Given the description of an element on the screen output the (x, y) to click on. 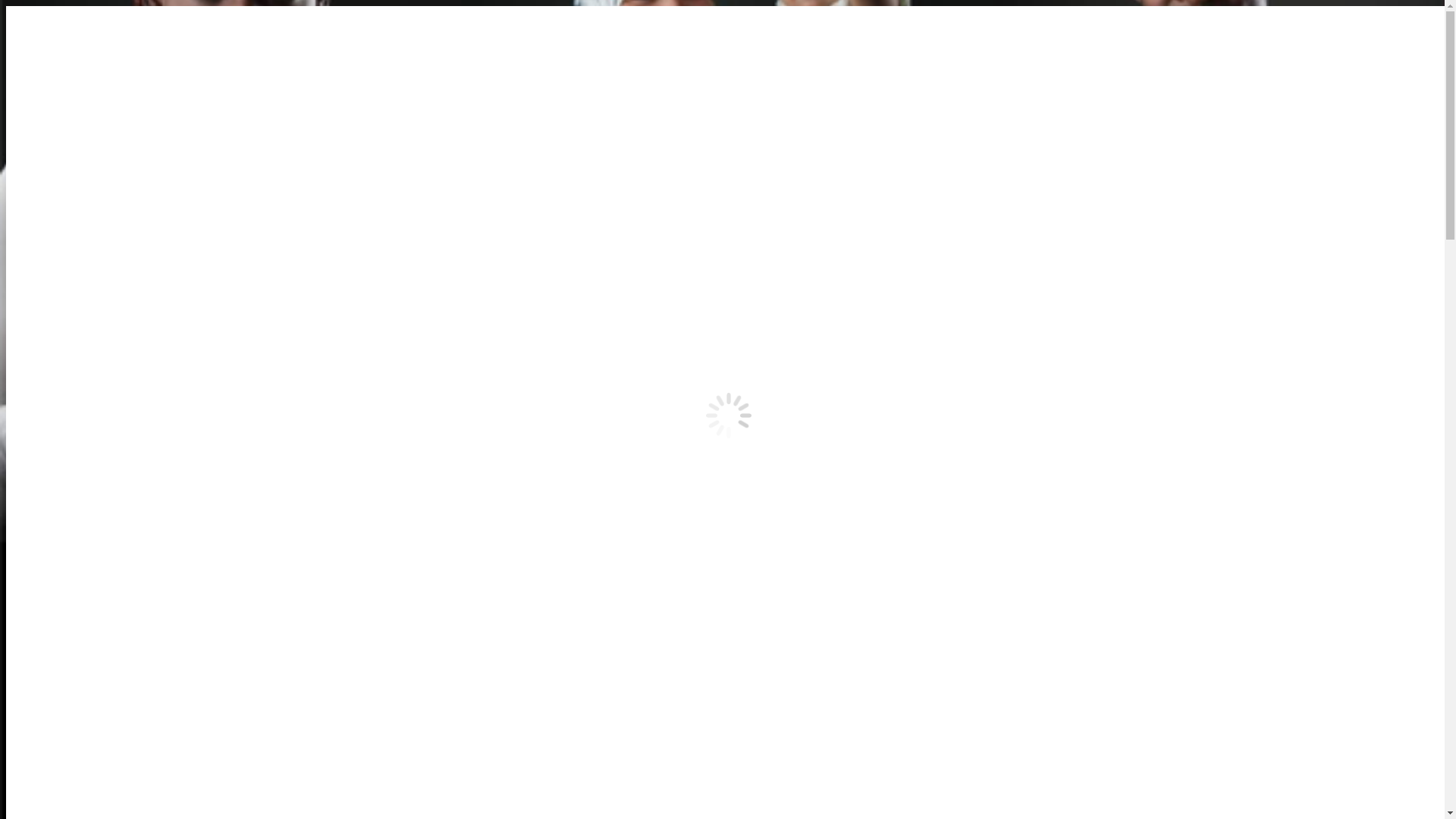
Textos NEPO Element type: text (99, 413)
Nepo Element type: text (49, 630)
Demografia e Etnias Element type: text (116, 752)
Home Element type: text (50, 153)
Facebook page opens in new window Element type: text (276, 63)
Equipe Element type: text (83, 684)
Nepo Element type: text (49, 167)
Pesquisadores Element type: text (100, 208)
Sobre o Nepo Element type: text (99, 643)
YouTube page opens in new window Element type: text (95, 63)
Banco Interativo Element type: text (106, 440)
Instagram page opens in new window Element type: text (629, 63)
Demografia e Etnias Element type: text (116, 290)
Biblioteca Element type: text (91, 235)
Sobre o Nepo Element type: text (99, 181)
Eventos Element type: text (55, 508)
Equipe Element type: text (83, 222)
Pesquisadores Element type: text (100, 671)
Twitter page opens in new window Element type: text (452, 63)
Emitir Certificados Element type: text (113, 563)
Anais Element type: text (80, 481)
Biblioteca Element type: text (91, 698)
Contato Element type: text (55, 590)
Pesquisas Element type: text (59, 739)
Home Element type: text (50, 616)
Eventos Passados Element type: text (109, 536)
Pesquisas Element type: text (59, 276)
